Given the description of an element on the screen output the (x, y) to click on. 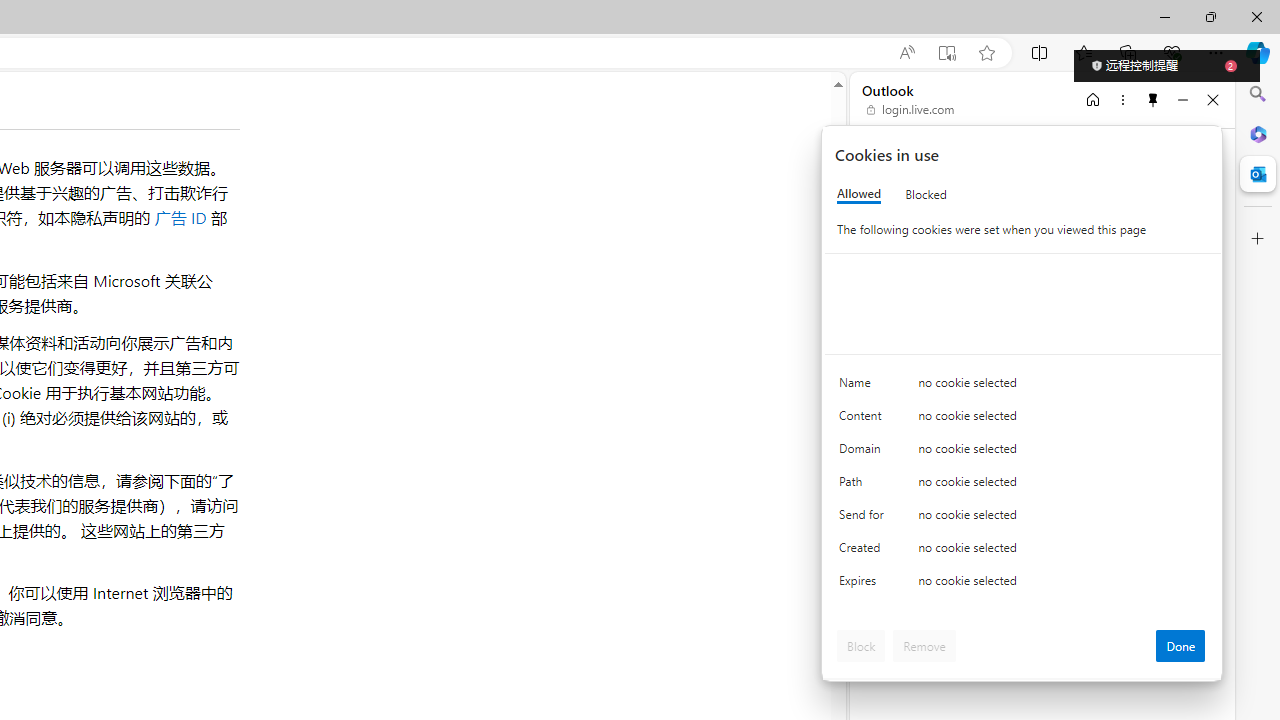
Remove (924, 645)
Class: c0153 c0157 (1023, 584)
Expires (864, 585)
Content (864, 420)
Allowed (859, 193)
Path (864, 485)
Block (861, 645)
Created (864, 552)
no cookie selected (1062, 585)
Blocked (925, 193)
Class: c0153 c0157 c0154 (1023, 386)
Domain (864, 452)
Name (864, 387)
Done (1179, 645)
Send for (864, 518)
